Given the description of an element on the screen output the (x, y) to click on. 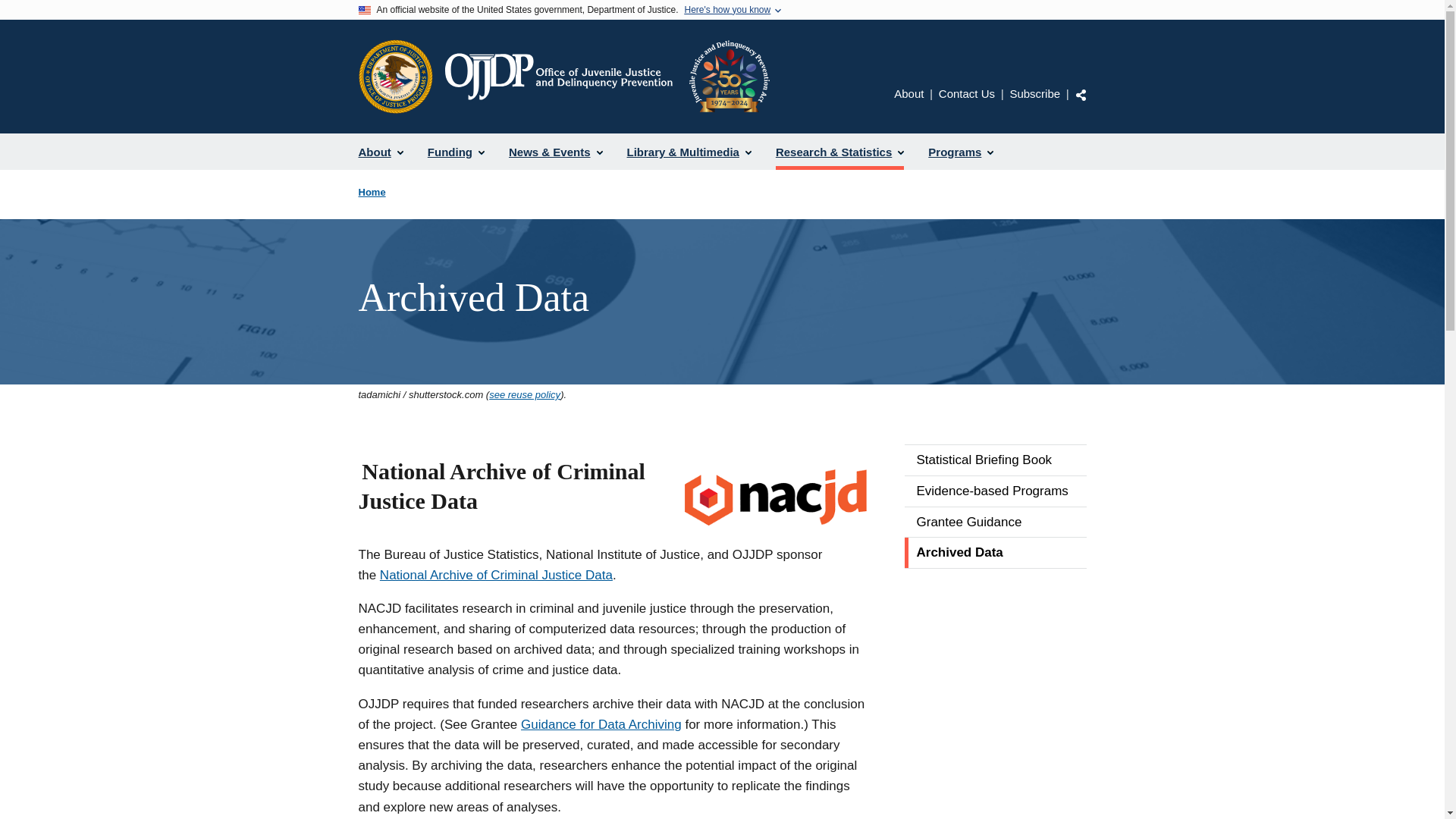
Subscribe (1034, 93)
Grantee Guidance (995, 521)
Office of Justice Programs (395, 76)
Evidence-based Programs (995, 490)
Choose a social sharing platform (1080, 94)
About (380, 151)
Here's how you know (727, 9)
Programs (960, 151)
see reuse policy (524, 394)
National Archive of Criminal Justice Data (496, 575)
